Given the description of an element on the screen output the (x, y) to click on. 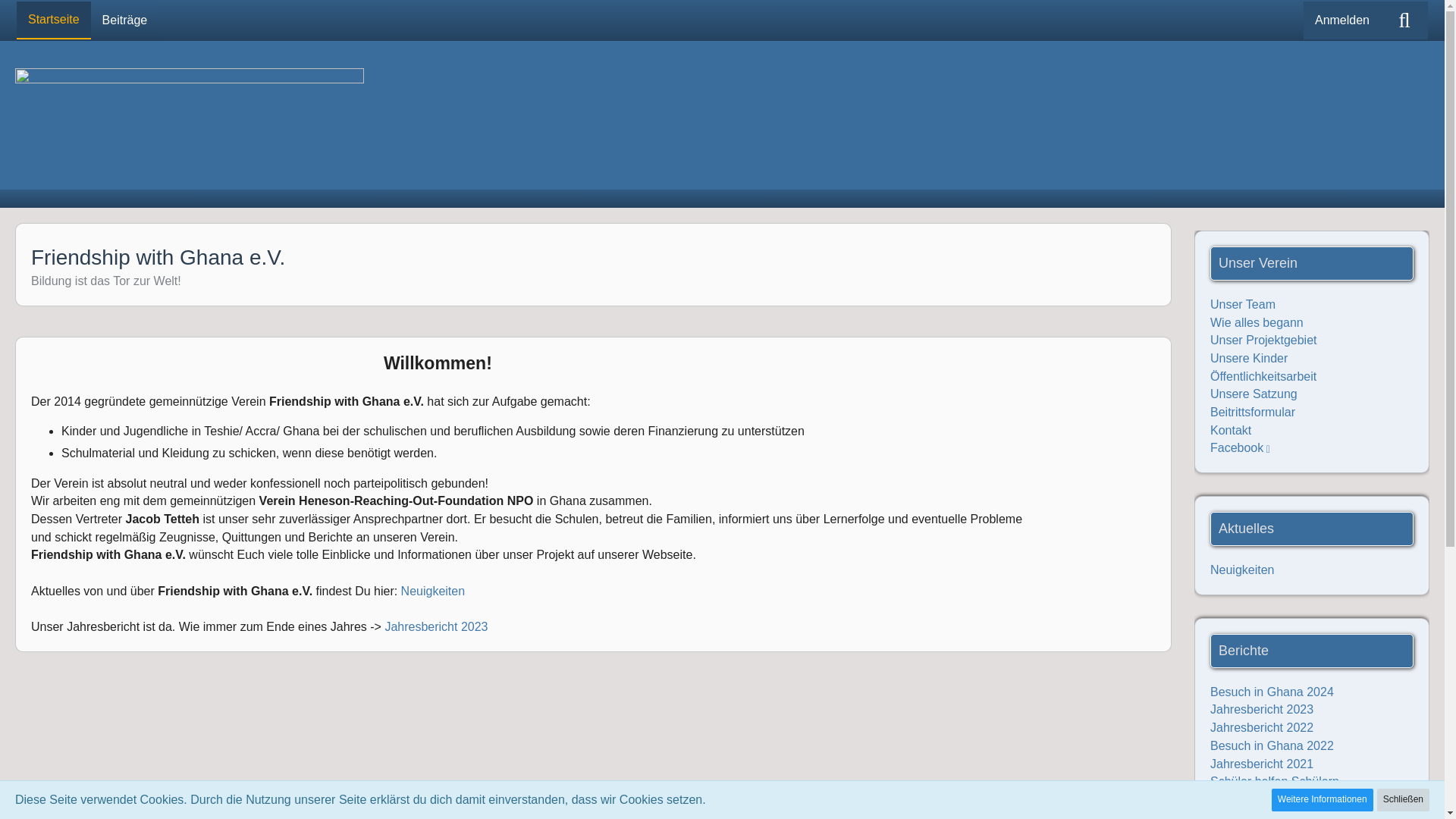
Jahresbericht 2023 (1261, 708)
Unser Team (1242, 304)
Unser Projektgebiet (1263, 339)
Jahresbericht 2023 (435, 626)
Jahresbericht 2020 (1261, 799)
Jahresbericht 2022 (1261, 727)
Neuigkeiten (433, 590)
Besuch in Ghana 2022 (1271, 745)
Besuch in Ghana 2020 (1271, 815)
Anmelden (1341, 20)
